Given the description of an element on the screen output the (x, y) to click on. 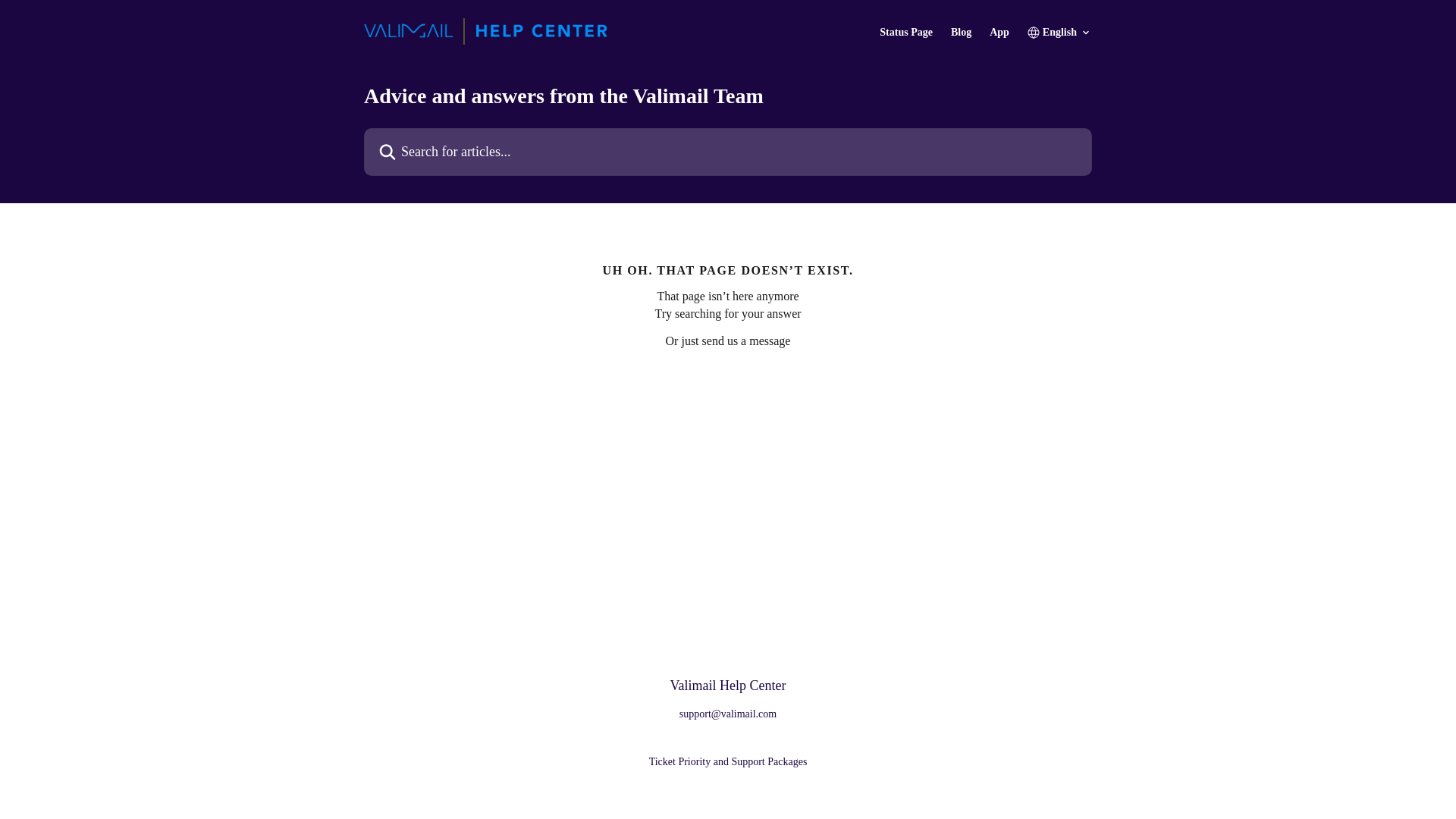
Ticket Priority and Support Packages (728, 761)
Valimail Help Center (727, 685)
Blog (960, 32)
App (999, 32)
Status Page (906, 32)
